Given the description of an element on the screen output the (x, y) to click on. 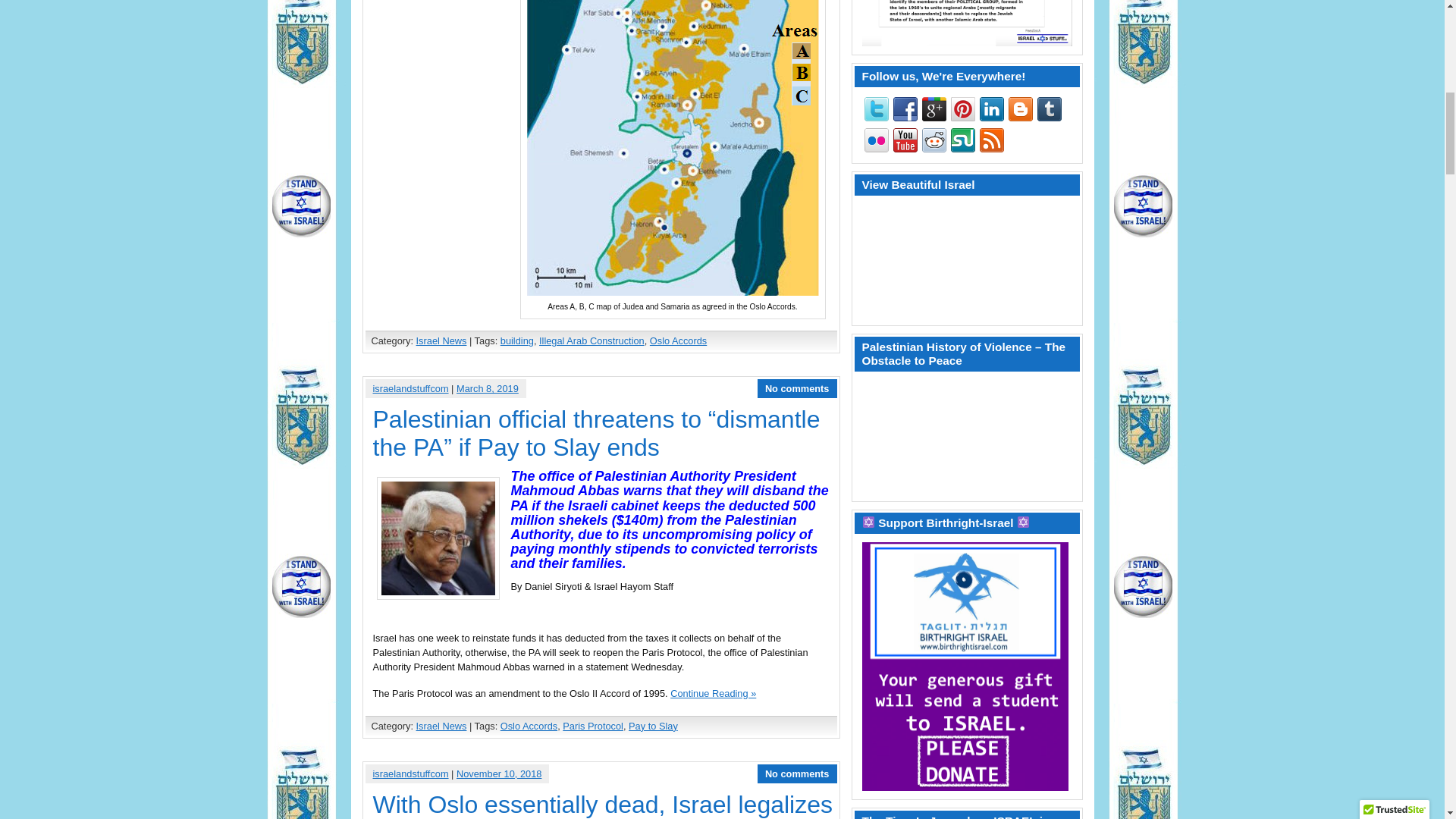
Posts by israelandstuffcom (410, 773)
Posts by israelandstuffcom (410, 388)
